Given the description of an element on the screen output the (x, y) to click on. 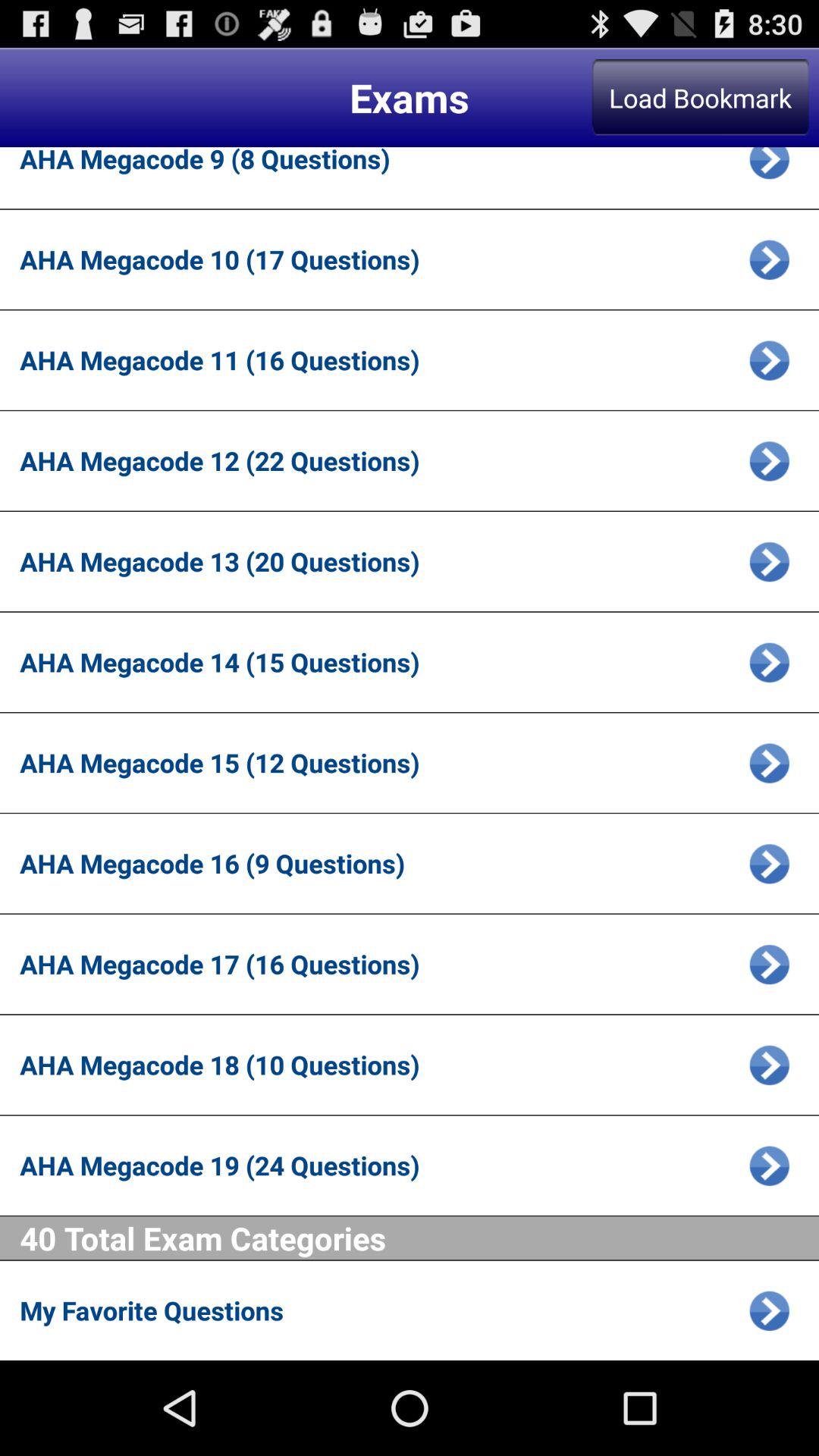
turn off the app next to the exams (700, 97)
